Given the description of an element on the screen output the (x, y) to click on. 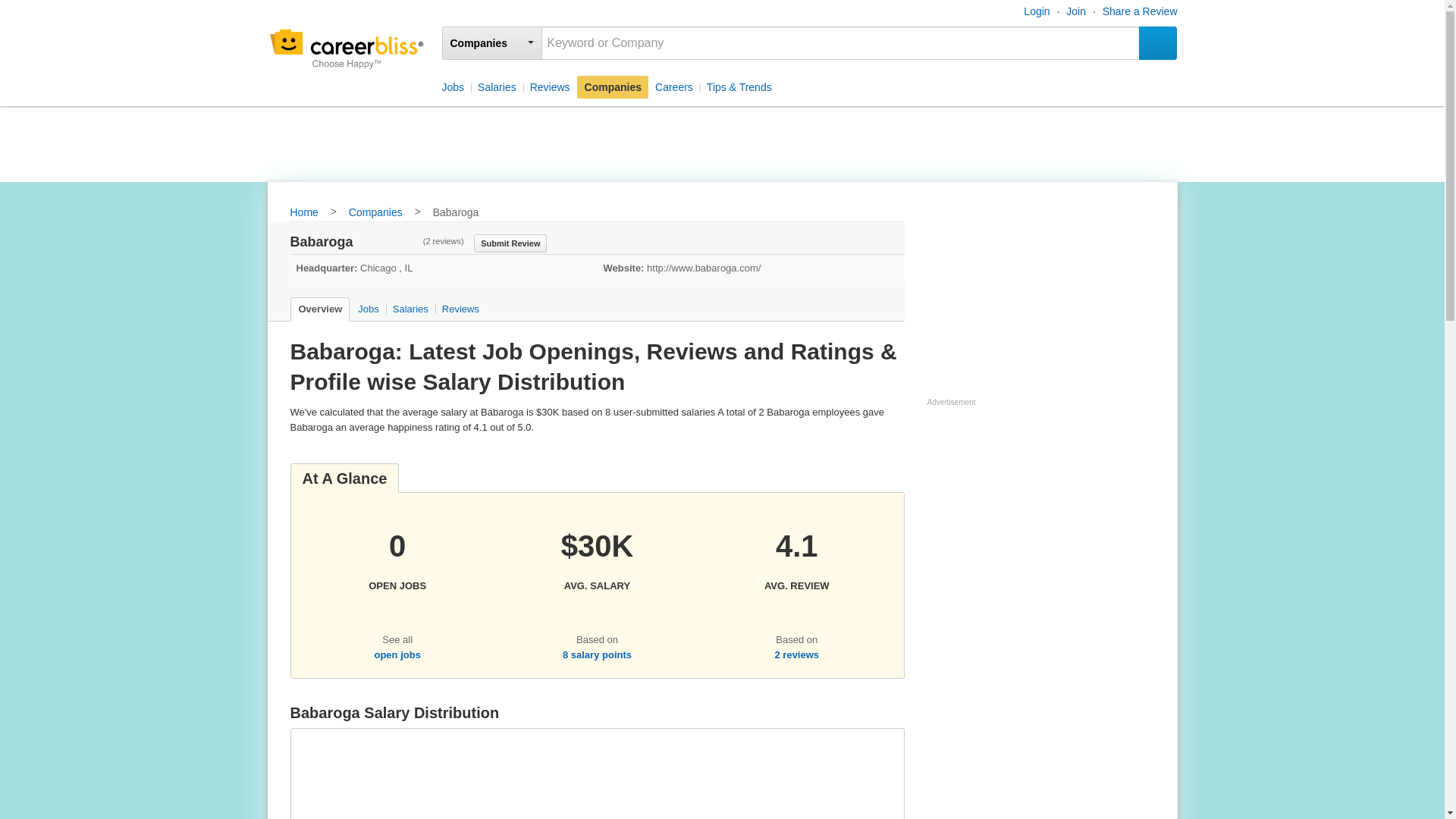
Share your company review with the CareerBliss community! (510, 242)
Jobs (367, 309)
Join (1075, 10)
Salaries (496, 87)
Companies (376, 212)
View all reviews at Babaroga (796, 654)
View all salaries at Babaroga (596, 583)
Login (1036, 10)
View all reviews at Babaroga (796, 583)
View all salaries at Babaroga (596, 654)
